Given the description of an element on the screen output the (x, y) to click on. 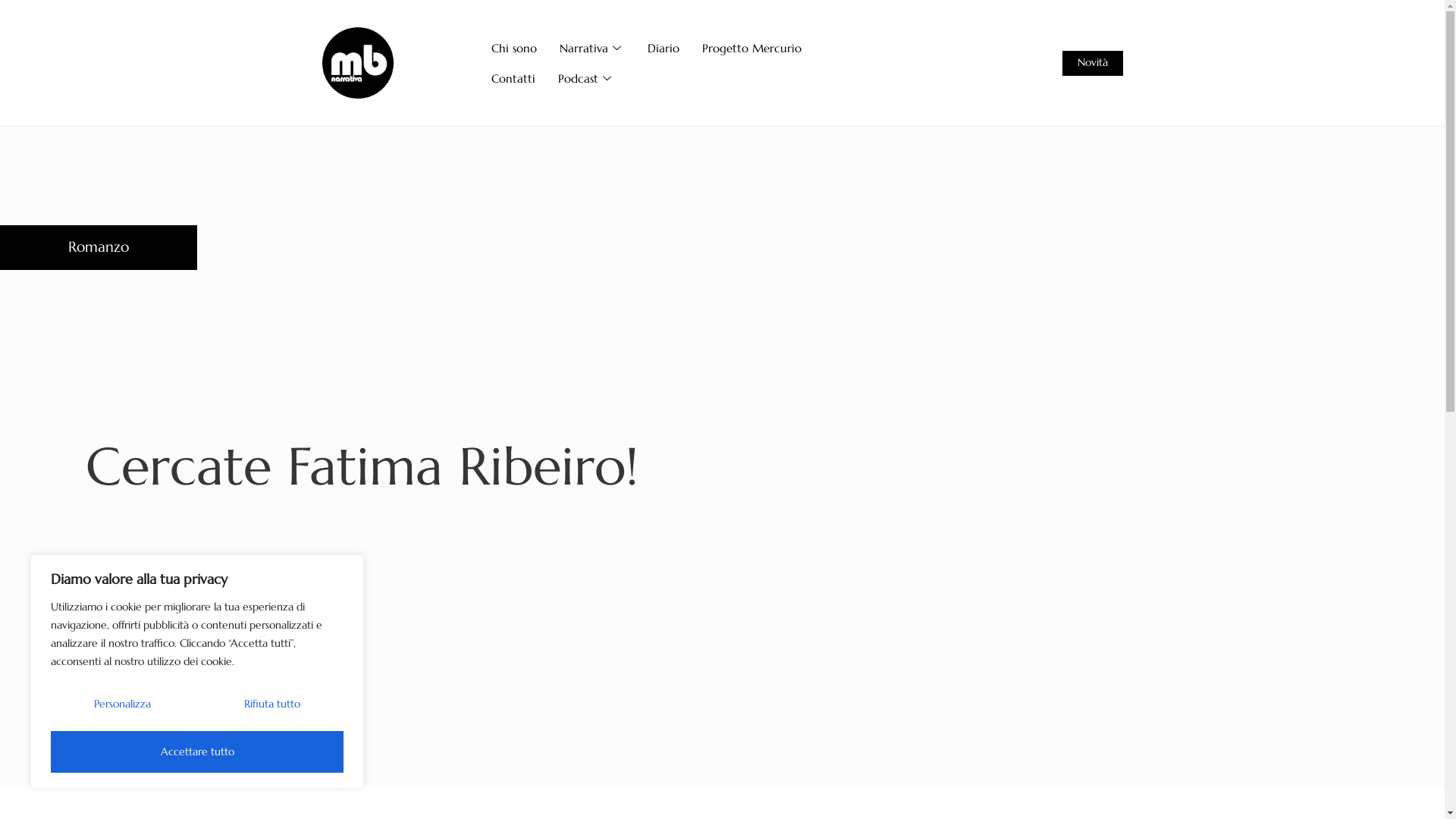
Diario Element type: text (663, 47)
Accettare tutto Element type: text (196, 751)
Progetto Mercurio Element type: text (751, 47)
Rifiuta tutto Element type: text (271, 703)
Podcast Element type: text (586, 77)
Chi sono Element type: text (514, 47)
Contatti Element type: text (513, 77)
Personalizza Element type: text (122, 703)
Narrativa Element type: text (592, 47)
